Given the description of an element on the screen output the (x, y) to click on. 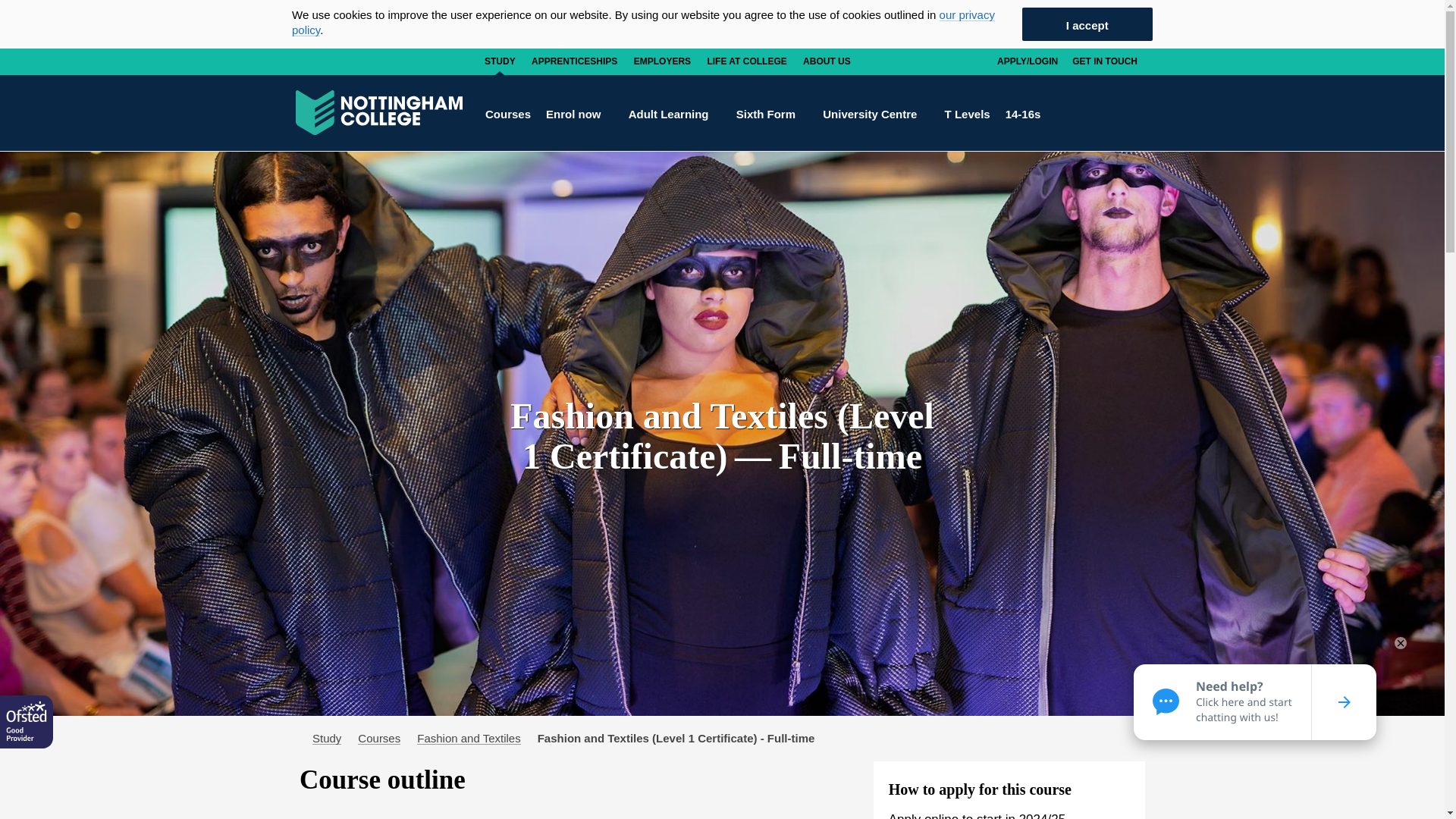
Adult Learning (675, 112)
APPRENTICESHIPS (574, 61)
our privacy policy (643, 22)
EMPLOYERS (662, 61)
I accept (1087, 23)
LIFE AT COLLEGE (746, 61)
Sixth Form (772, 112)
GET IN TOUCH (1104, 61)
ABOUT US (826, 61)
STUDY (499, 61)
Nottingham College (378, 112)
Enrol now (579, 112)
Courses (507, 112)
